Given the description of an element on the screen output the (x, y) to click on. 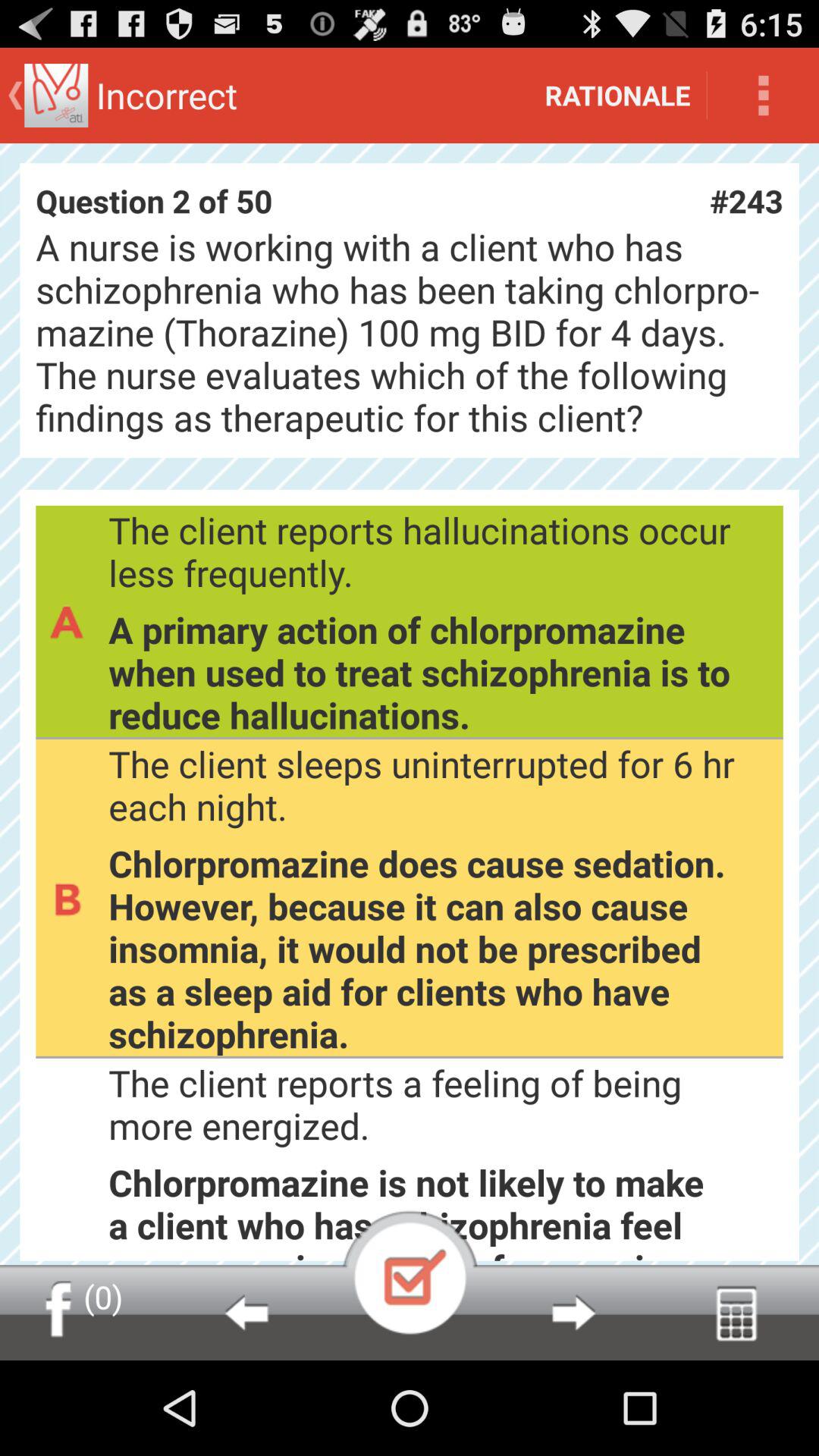
tap icon next to the rationale icon (763, 95)
